Given the description of an element on the screen output the (x, y) to click on. 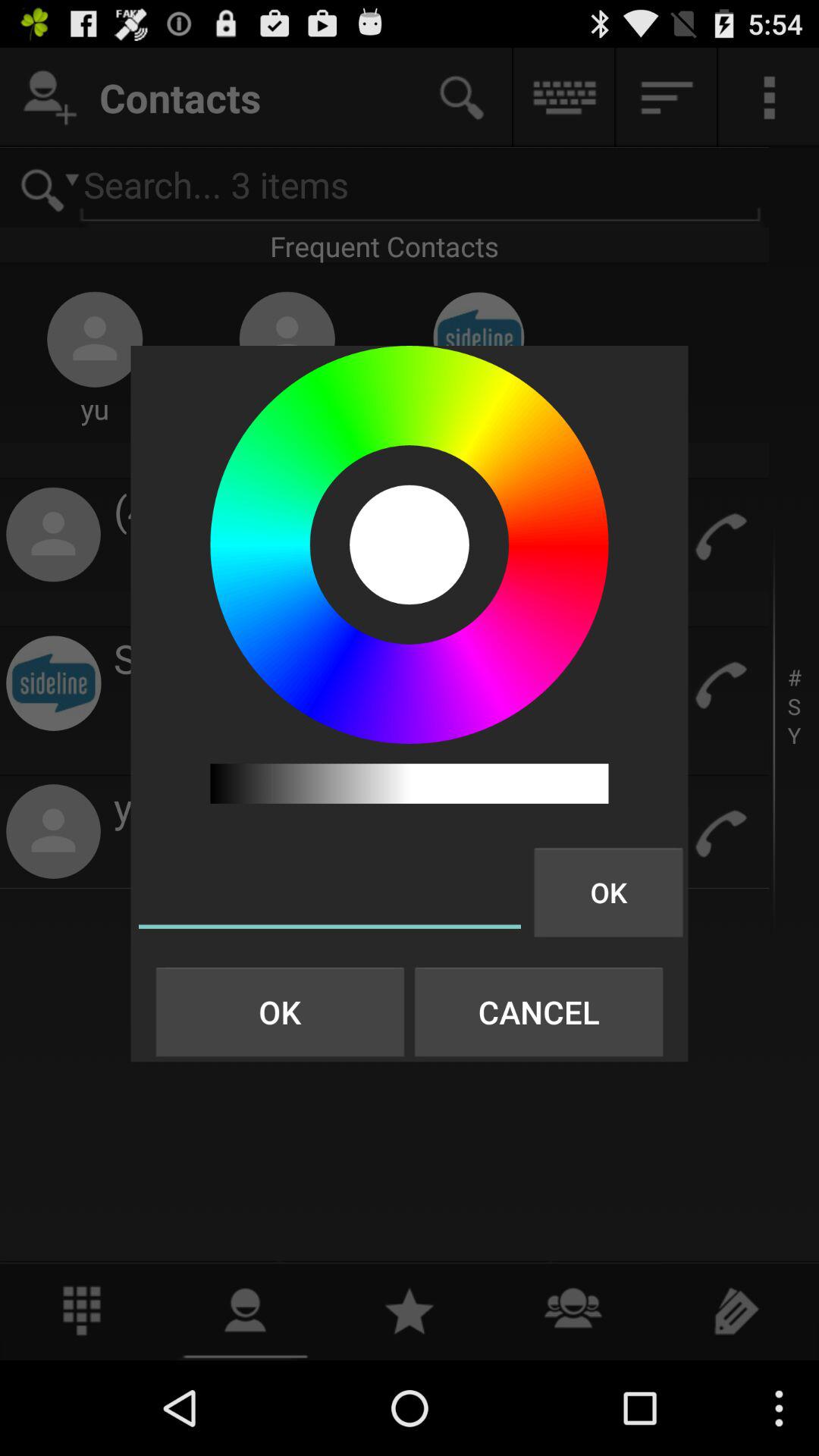
press the button to the right of ok button (538, 1011)
